Given the description of an element on the screen output the (x, y) to click on. 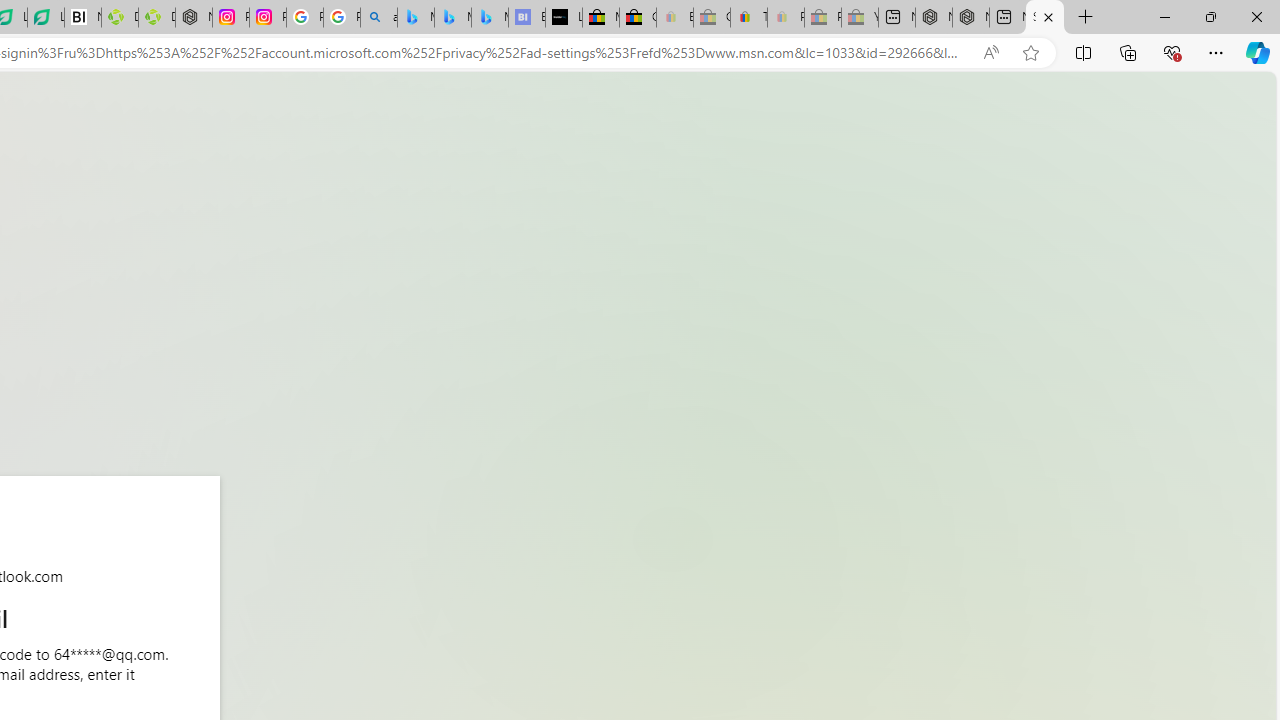
Nvidia va a poner a prueba la paciencia de los inversores (83, 17)
Nordace - Nordace Edin Collection (193, 17)
Press Room - eBay Inc. - Sleeping (822, 17)
Microsoft Bing Travel - Flights from Hong Kong to Bangkok (415, 17)
Microsoft Bing Travel - Shangri-La Hotel Bangkok (490, 17)
